Given the description of an element on the screen output the (x, y) to click on. 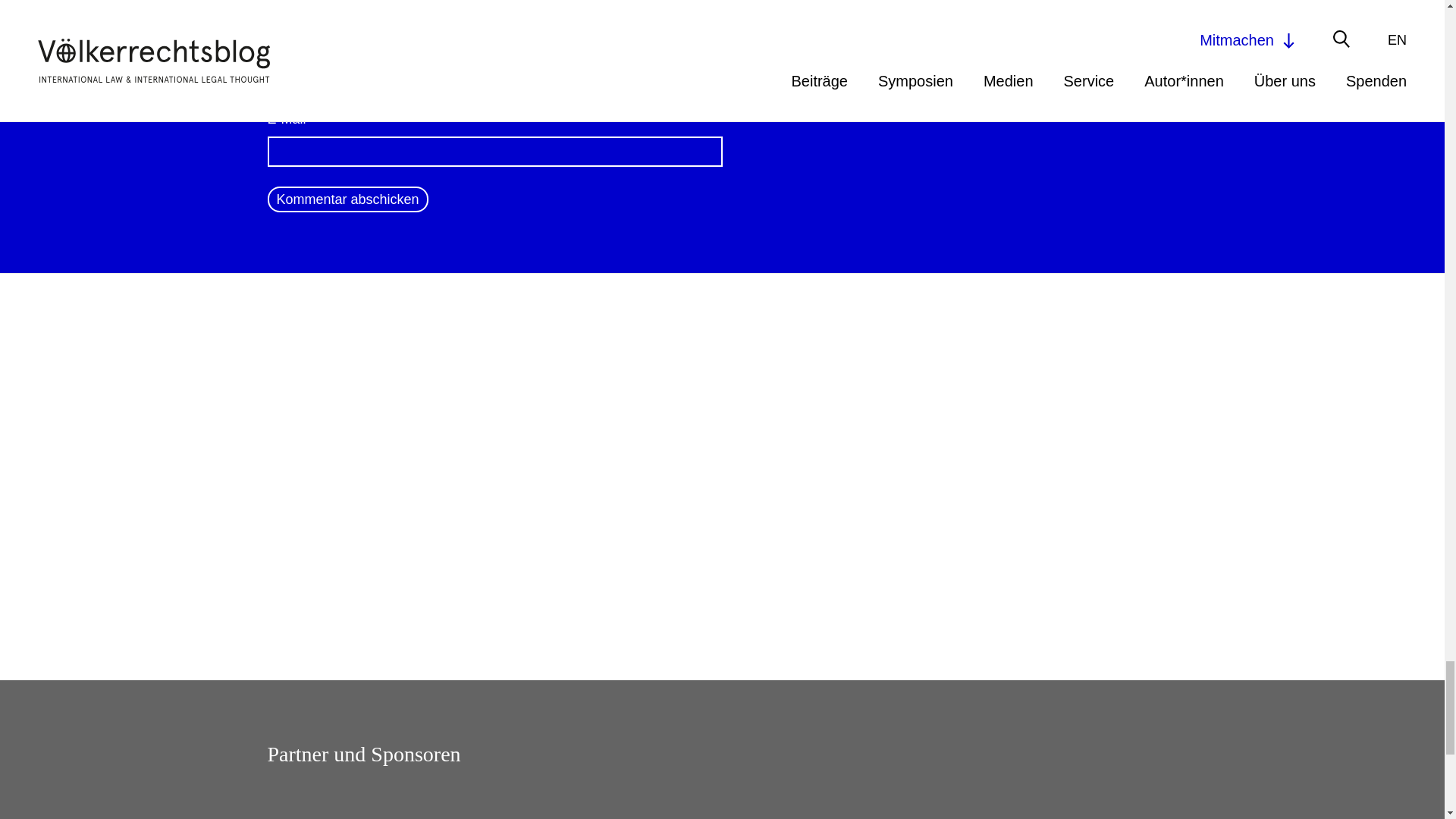
Kommentar abschicken (347, 199)
